Given the description of an element on the screen output the (x, y) to click on. 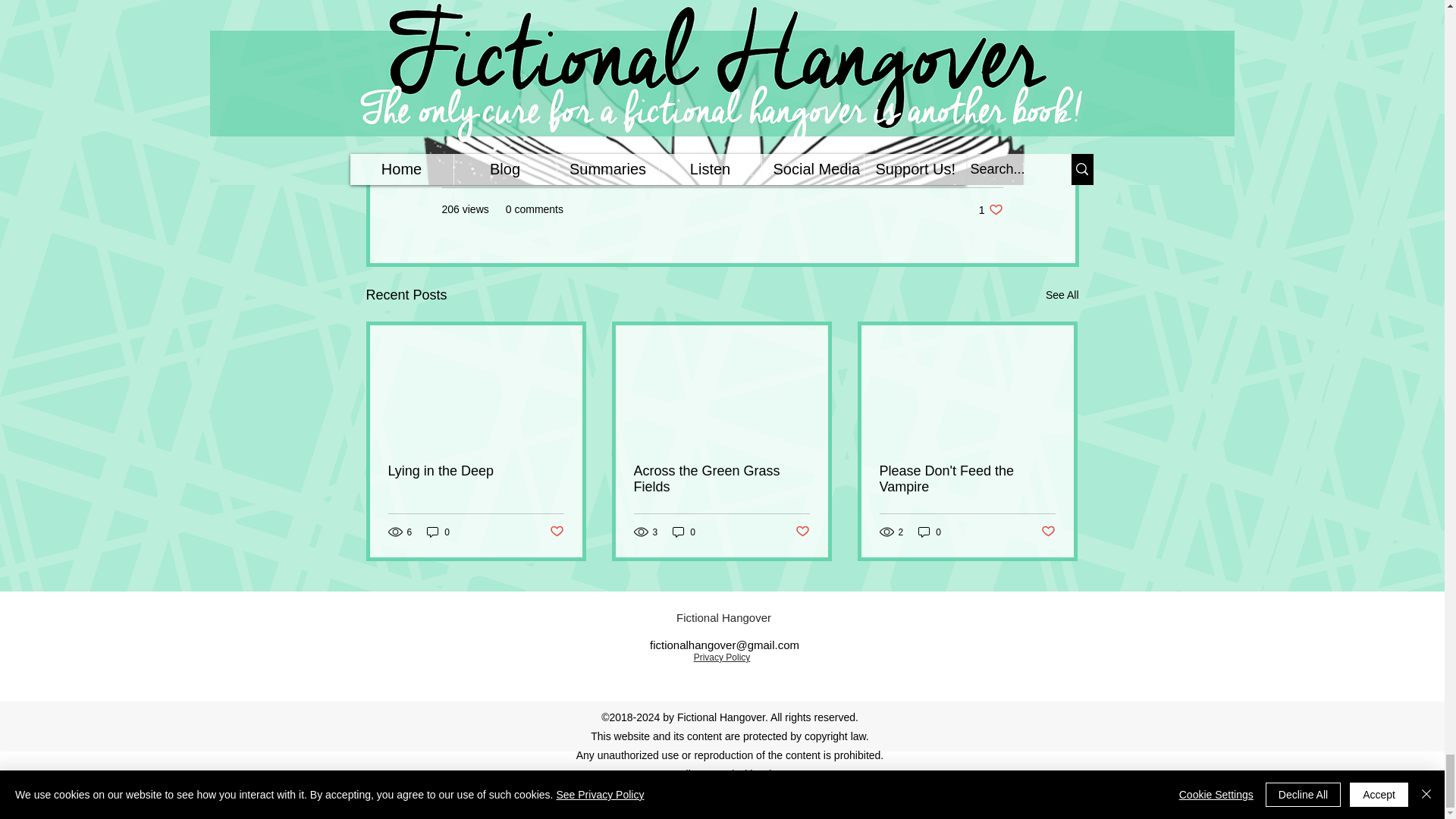
Post not marked as liked (555, 531)
Lying in the Deep (476, 471)
0 (438, 531)
Summaries (976, 164)
See All (990, 209)
